Given the description of an element on the screen output the (x, y) to click on. 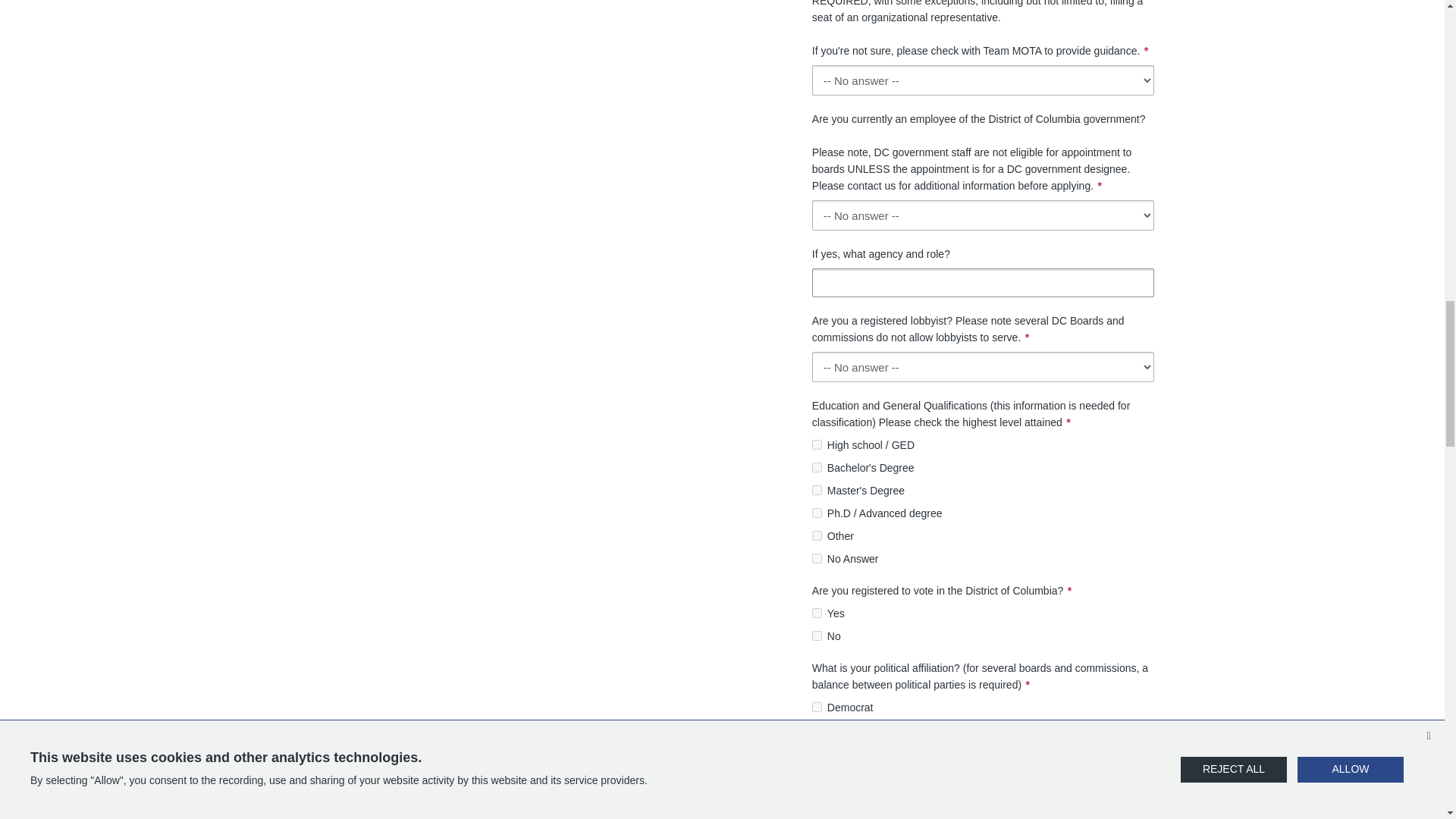
Other (817, 535)
No Answer (817, 558)
Bachelor's Degree (817, 467)
No (817, 635)
Master's Degree (817, 490)
Republican (817, 752)
Yes (817, 613)
Democrat (817, 706)
Independent (817, 729)
